Given the description of an element on the screen output the (x, y) to click on. 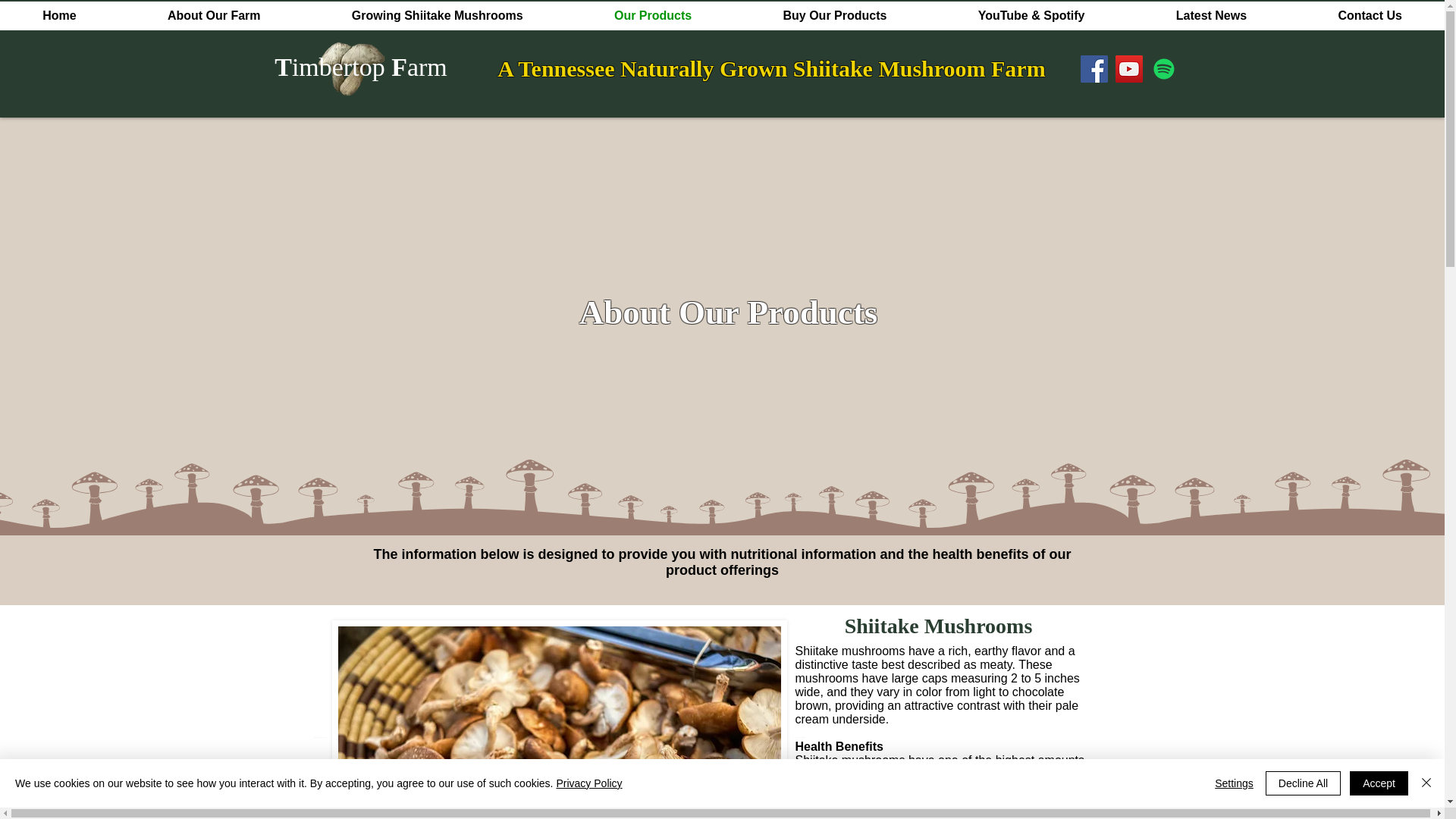
Growing Shiitake Mushrooms (437, 15)
Buy Our Products (833, 15)
Shiitake mushrooms nutritional and health benefits (559, 719)
Latest News (1212, 15)
Home (59, 15)
Contact Us (1369, 15)
Our Products (653, 15)
Timbertop Farm (360, 67)
About Our Farm (213, 15)
